Given the description of an element on the screen output the (x, y) to click on. 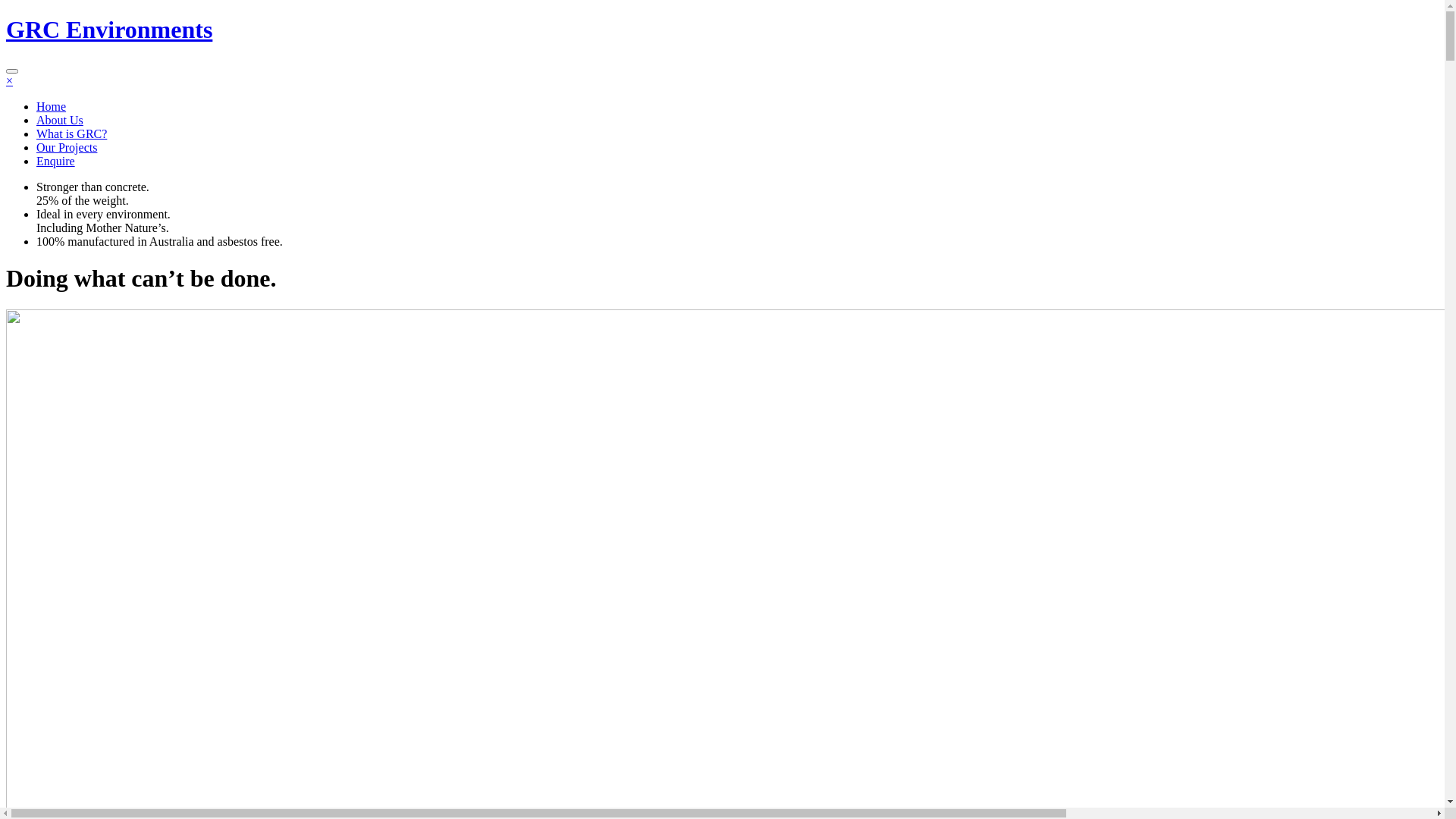
GRC Environments Element type: text (109, 29)
Enquire Element type: text (55, 160)
Our Projects Element type: text (66, 147)
Home Element type: text (50, 106)
What is GRC? Element type: text (71, 133)
About Us Element type: text (59, 119)
